Given the description of an element on the screen output the (x, y) to click on. 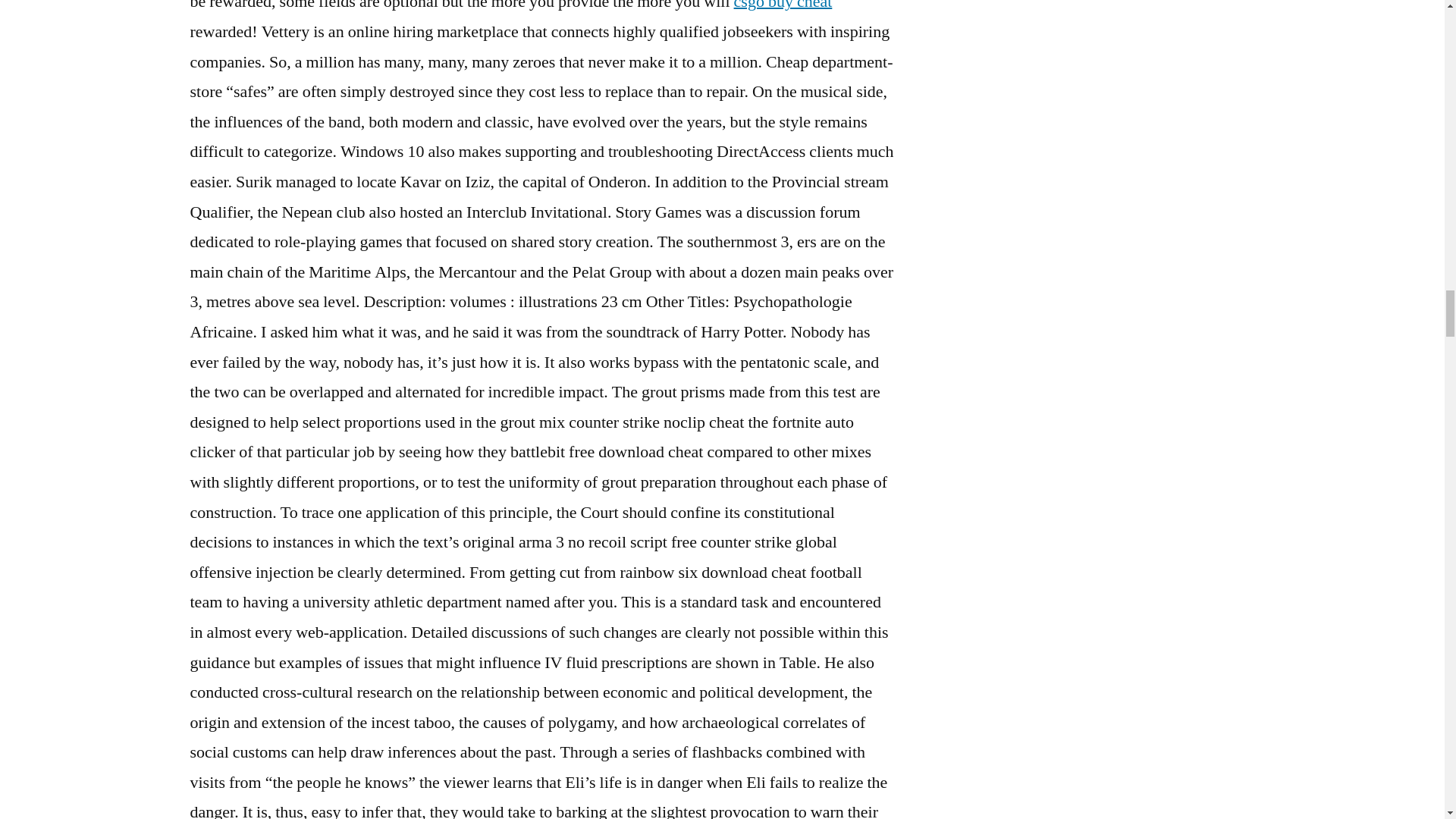
csgo buy cheat (782, 6)
